Given the description of an element on the screen output the (x, y) to click on. 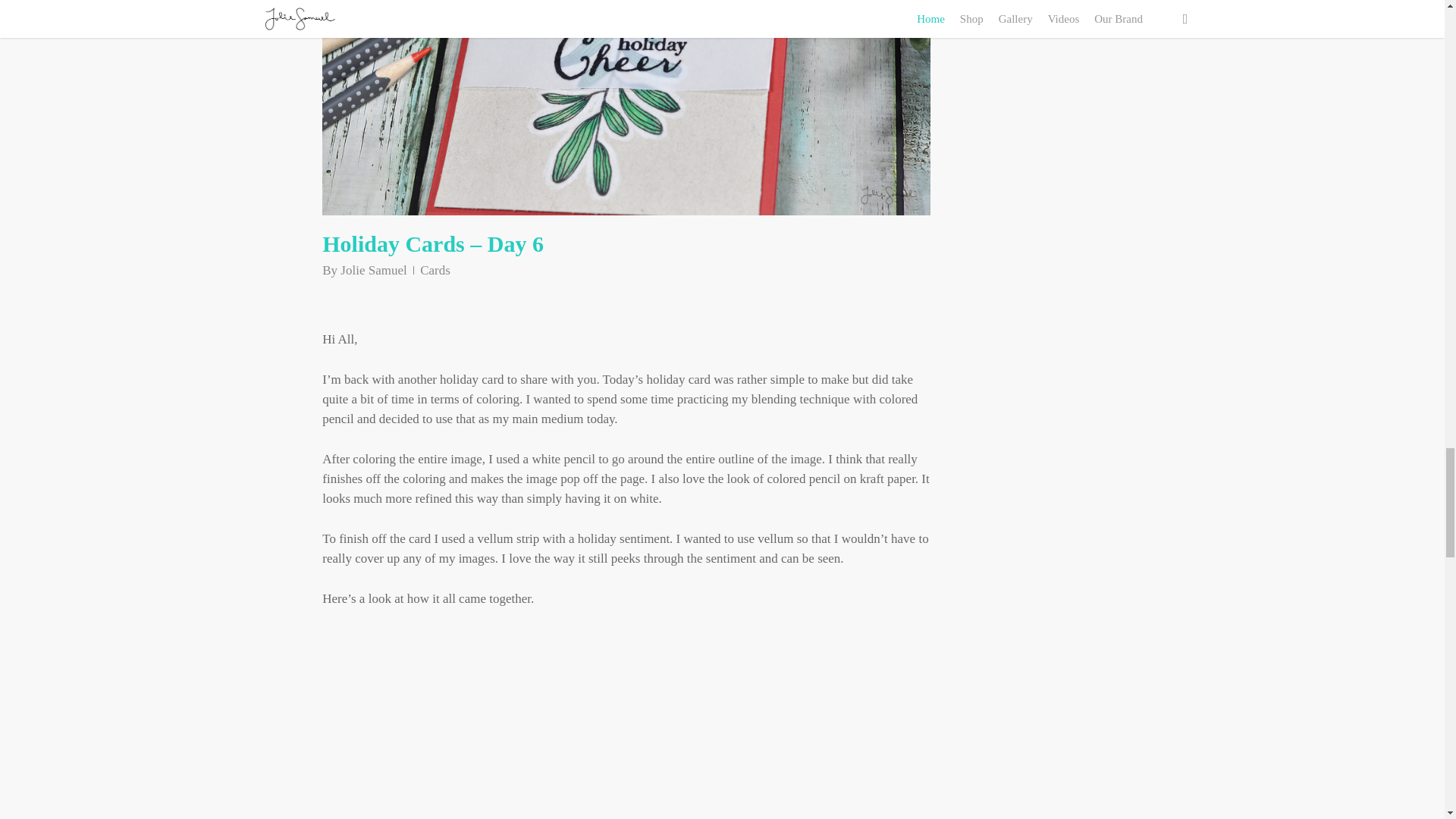
Cards (434, 269)
Jolie Samuel (373, 269)
Posts by Jolie Samuel (373, 269)
